Given the description of an element on the screen output the (x, y) to click on. 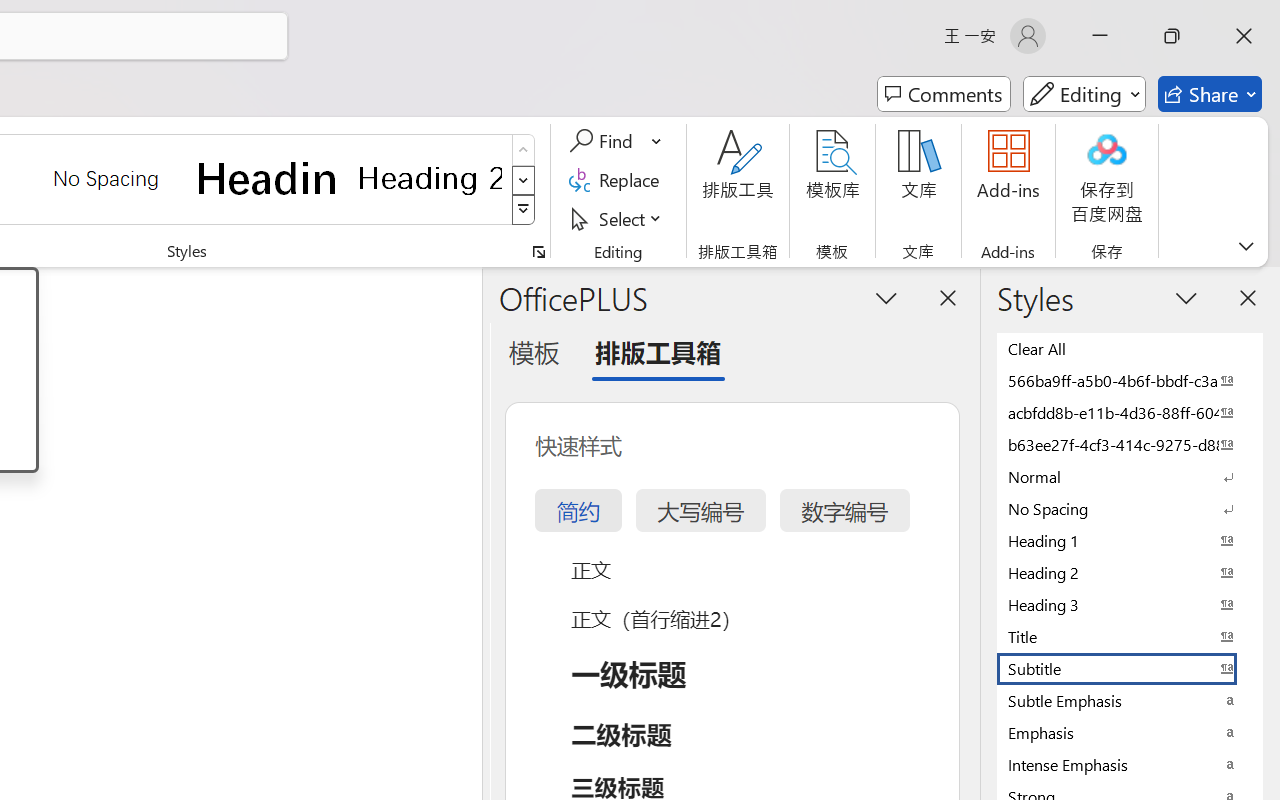
acbfdd8b-e11b-4d36-88ff-6049b138f862 (1130, 412)
